Given the description of an element on the screen output the (x, y) to click on. 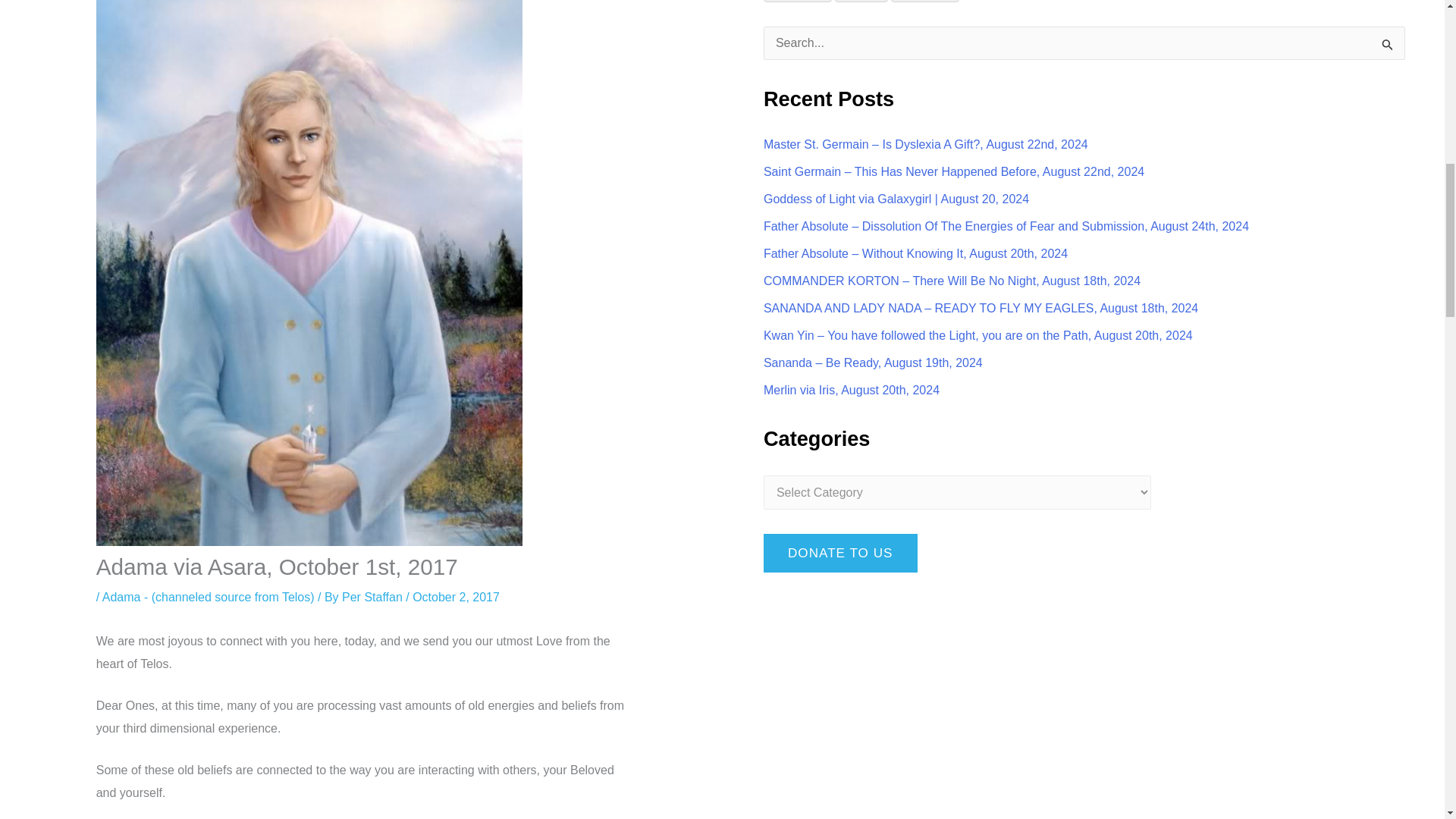
Per Staffan (374, 596)
Register (796, 1)
View all posts by Per Staffan (374, 596)
